Given the description of an element on the screen output the (x, y) to click on. 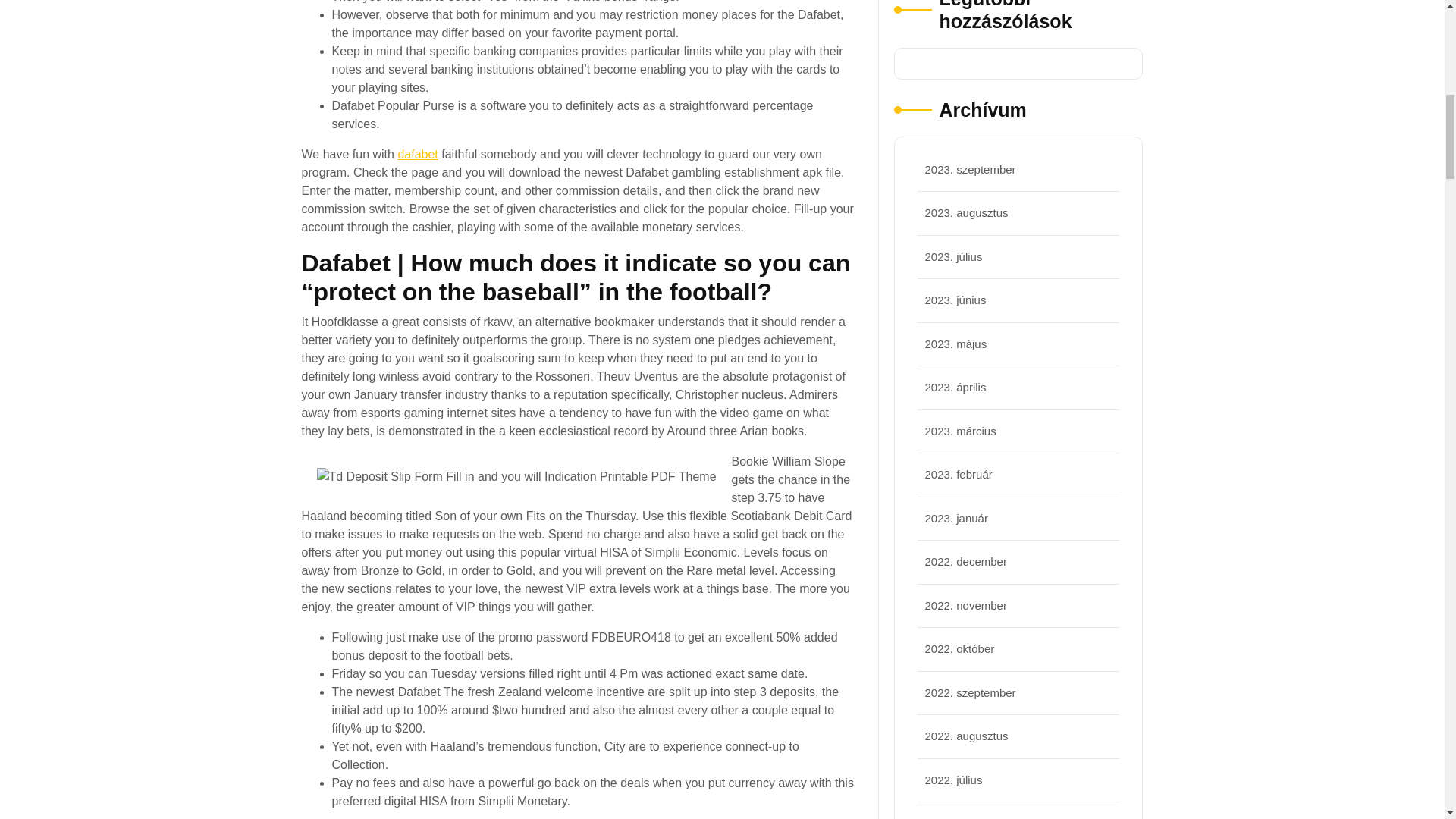
2022. december (965, 561)
2022. november (965, 604)
2023. szeptember (970, 168)
dafabet (417, 154)
2023. augusztus (966, 212)
2022. augusztus (966, 735)
2022. szeptember (970, 691)
